Given the description of an element on the screen output the (x, y) to click on. 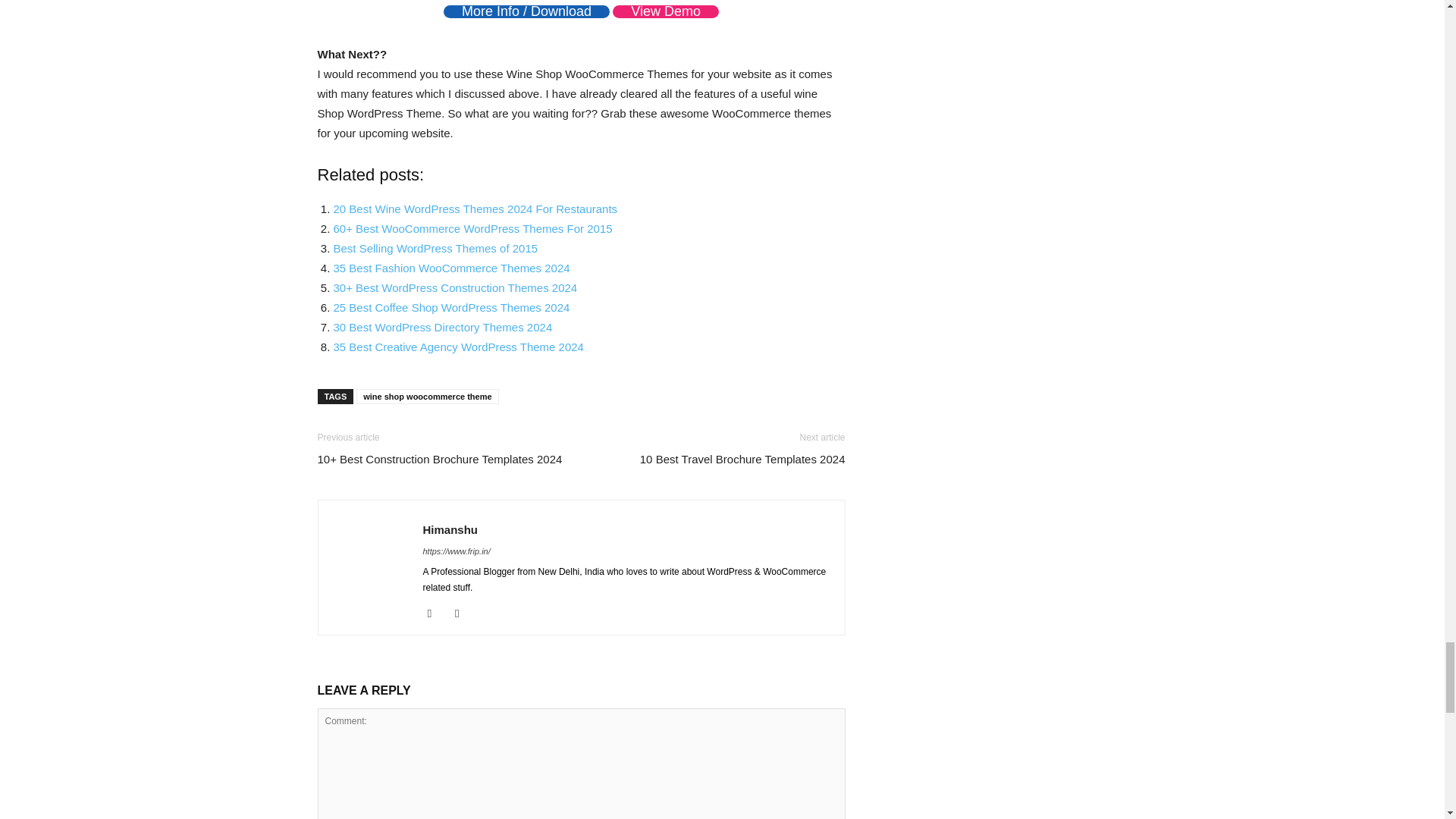
20 Best Wine WordPress Themes 2024 For Restaurants (475, 208)
35 Best Fashion WooCommerce Themes 2024 (451, 267)
Best Selling WordPress Themes of 2015 (435, 247)
